Given the description of an element on the screen output the (x, y) to click on. 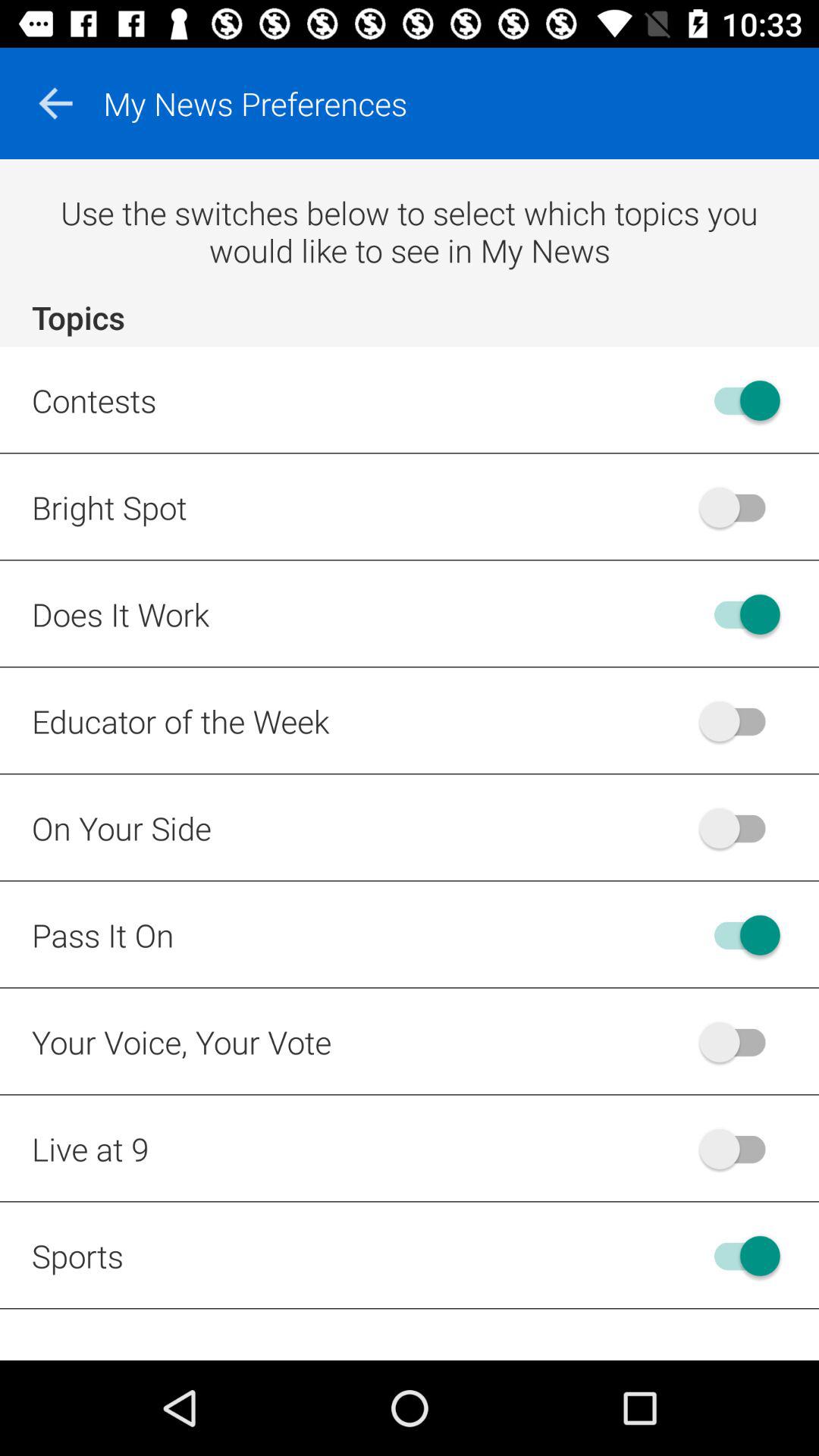
toggles a on button (739, 720)
